Given the description of an element on the screen output the (x, y) to click on. 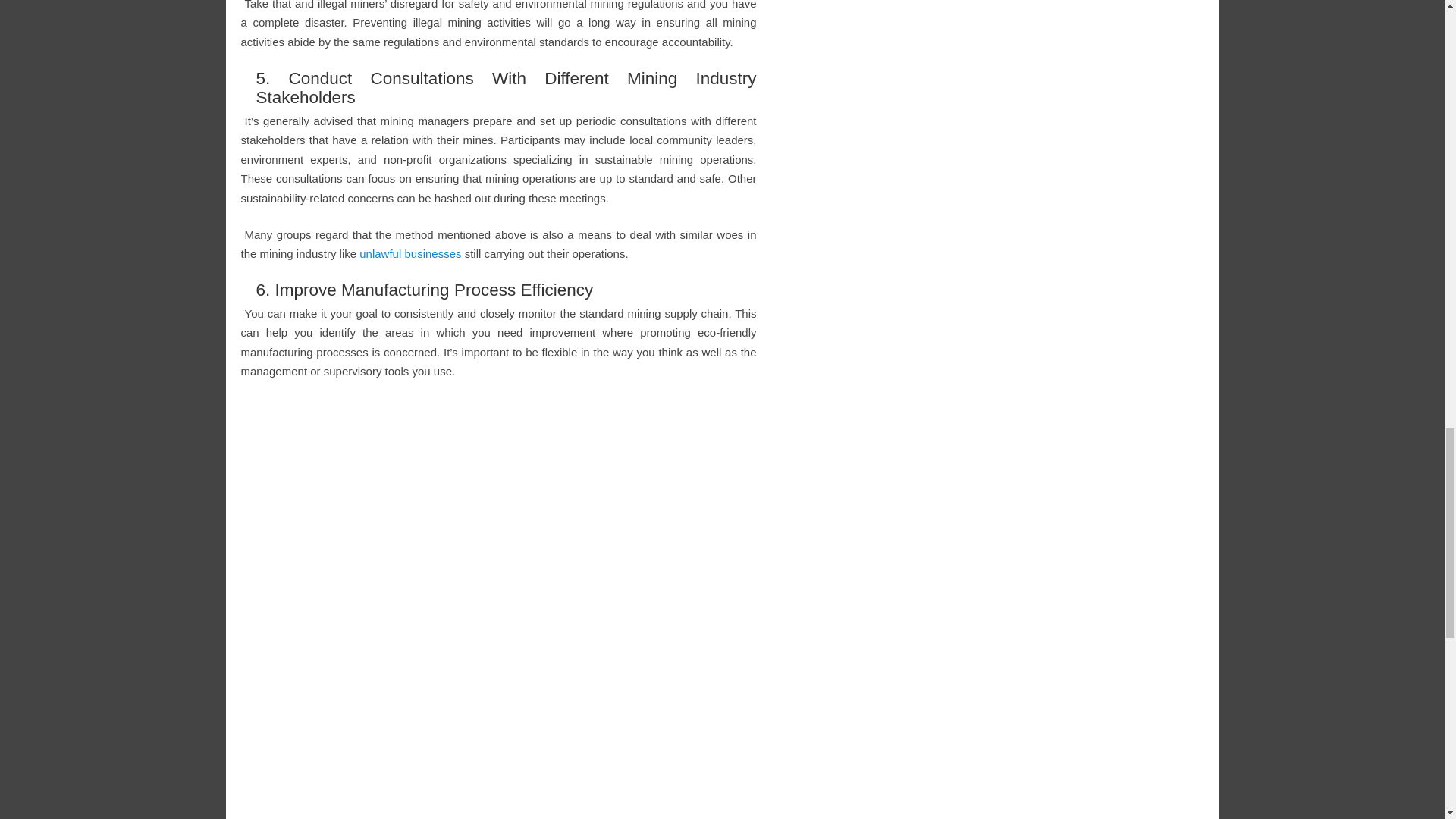
unlawful businesses (410, 253)
